Given the description of an element on the screen output the (x, y) to click on. 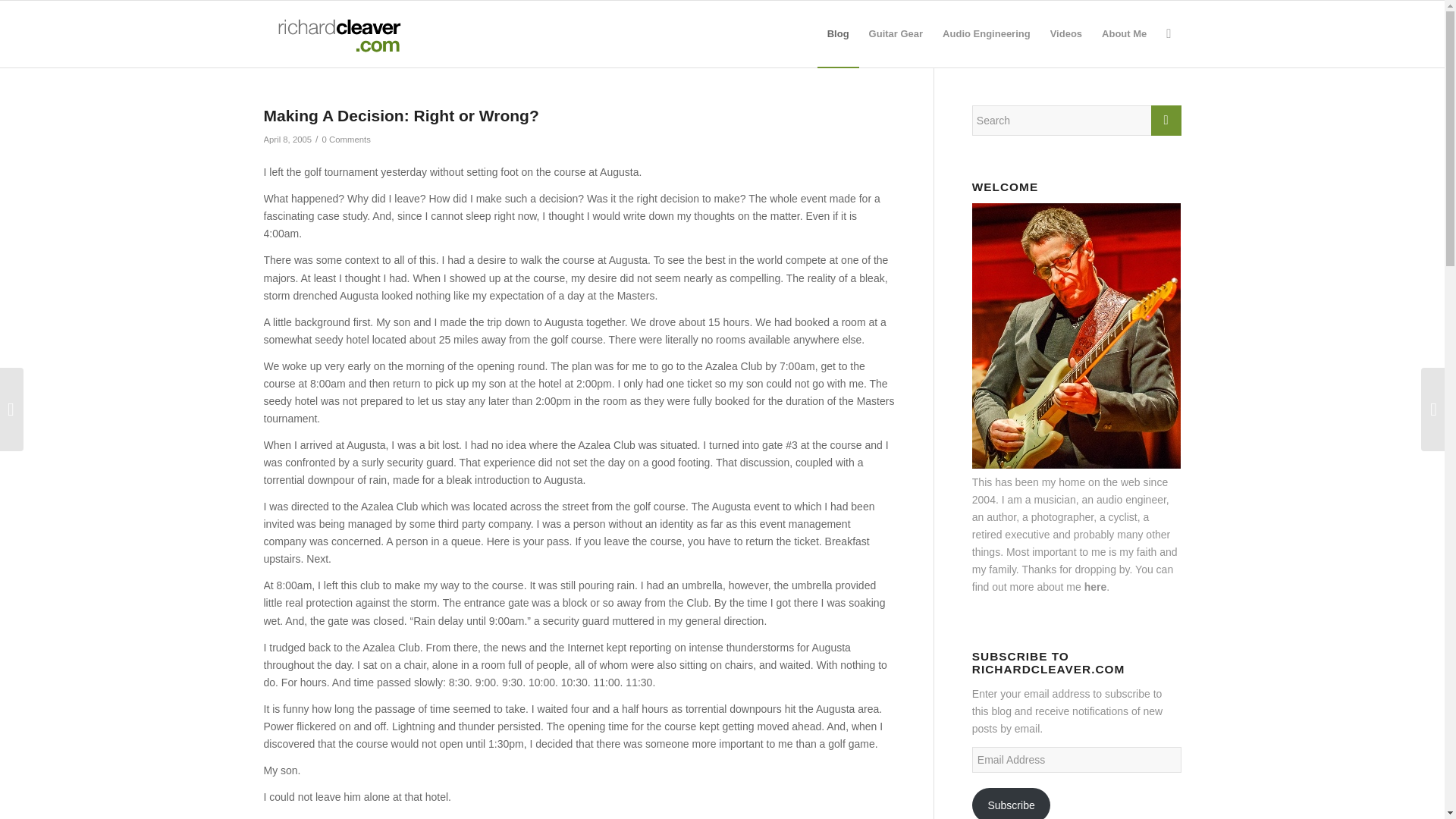
Blog (837, 33)
About Me (1124, 33)
here (1095, 586)
Subscribe (1011, 803)
Guitar Gear (896, 33)
Audio Engineering (987, 33)
rcdotcomlogo (336, 33)
Videos (1066, 33)
0 Comments (346, 139)
